Given the description of an element on the screen output the (x, y) to click on. 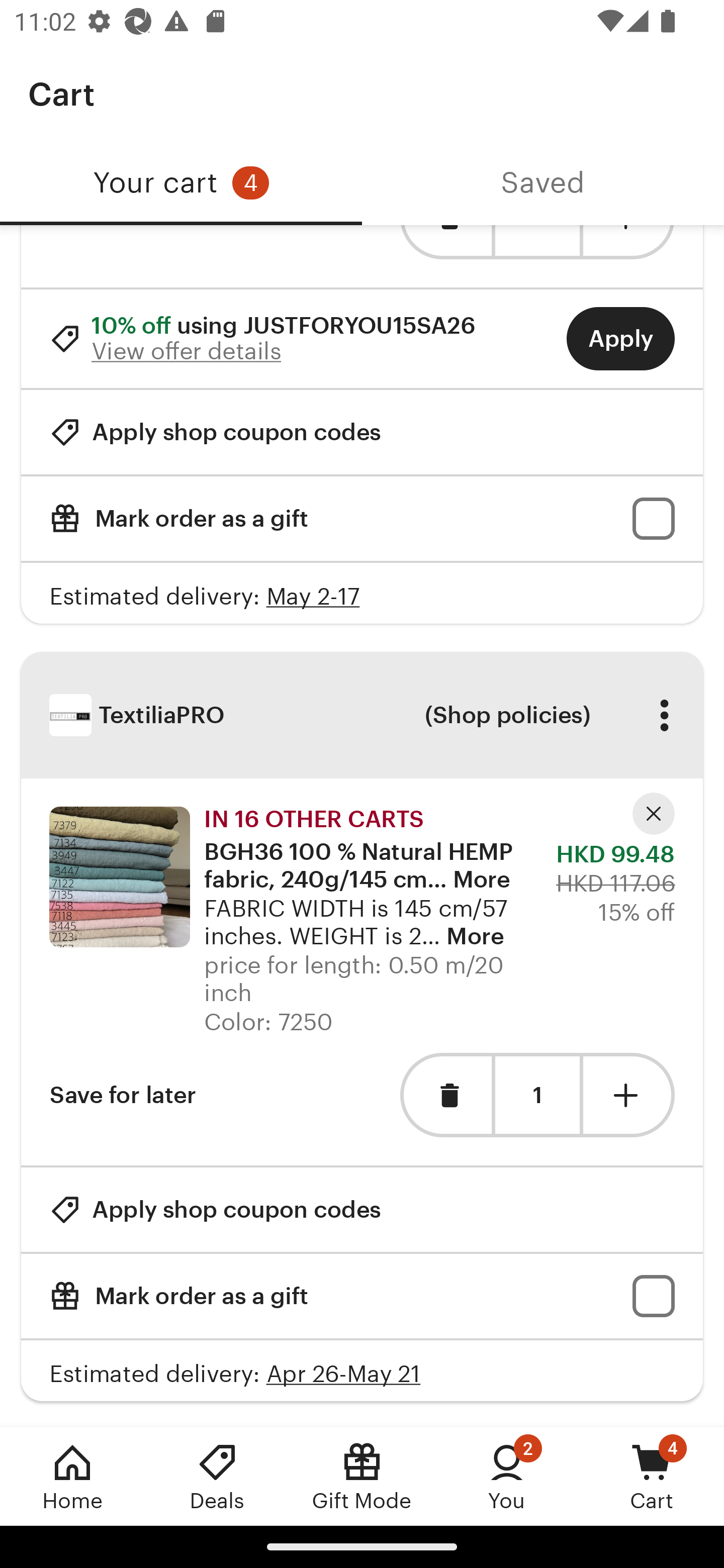
Saved, tab 2 of 2 Saved (543, 183)
Apply (620, 338)
Apply shop coupon codes (215, 432)
Mark order as a gift (361, 518)
TextiliaPRO (Shop policies) More options (361, 714)
(Shop policies) (507, 714)
More options (663, 714)
Save for later (122, 1094)
Remove item from cart (445, 1094)
Add one unit to cart (628, 1094)
1 (537, 1095)
Apply shop coupon codes (215, 1209)
Mark order as a gift (361, 1296)
Home (72, 1475)
Deals (216, 1475)
Gift Mode (361, 1475)
You, 2 new notifications You (506, 1475)
